Given the description of an element on the screen output the (x, y) to click on. 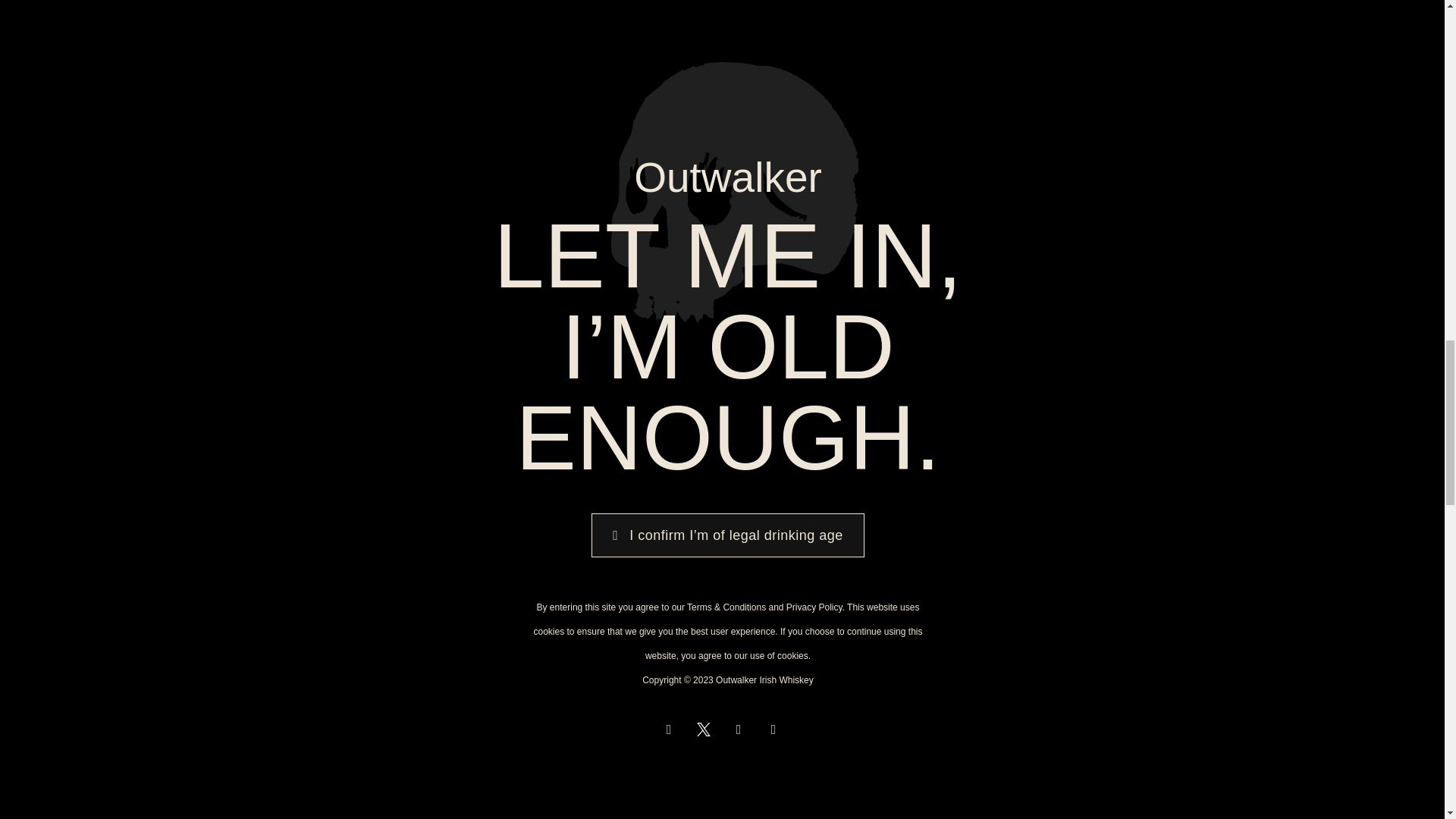
Three Drams (858, 313)
